Given the description of an element on the screen output the (x, y) to click on. 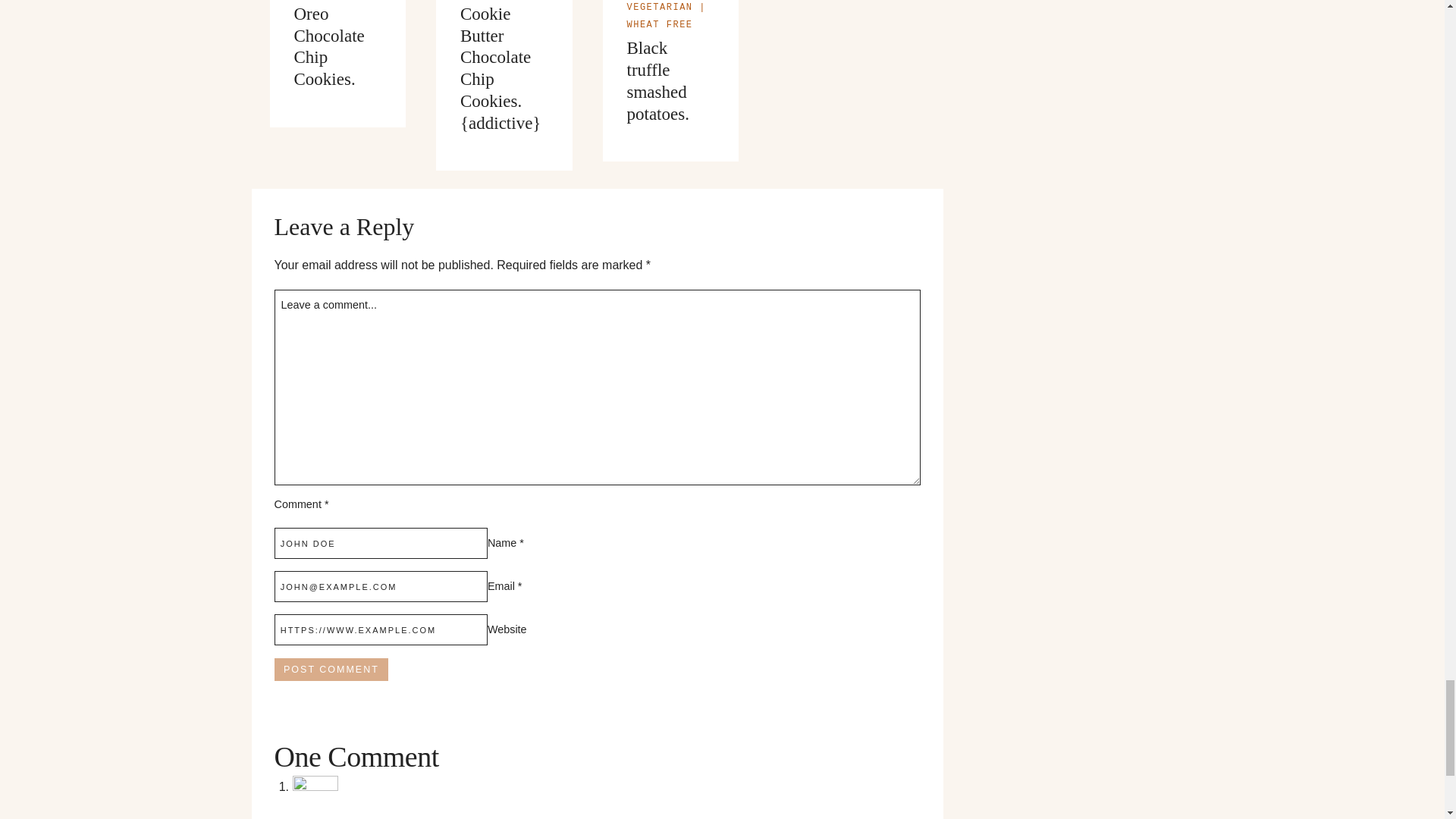
Post Comment (331, 669)
